Given the description of an element on the screen output the (x, y) to click on. 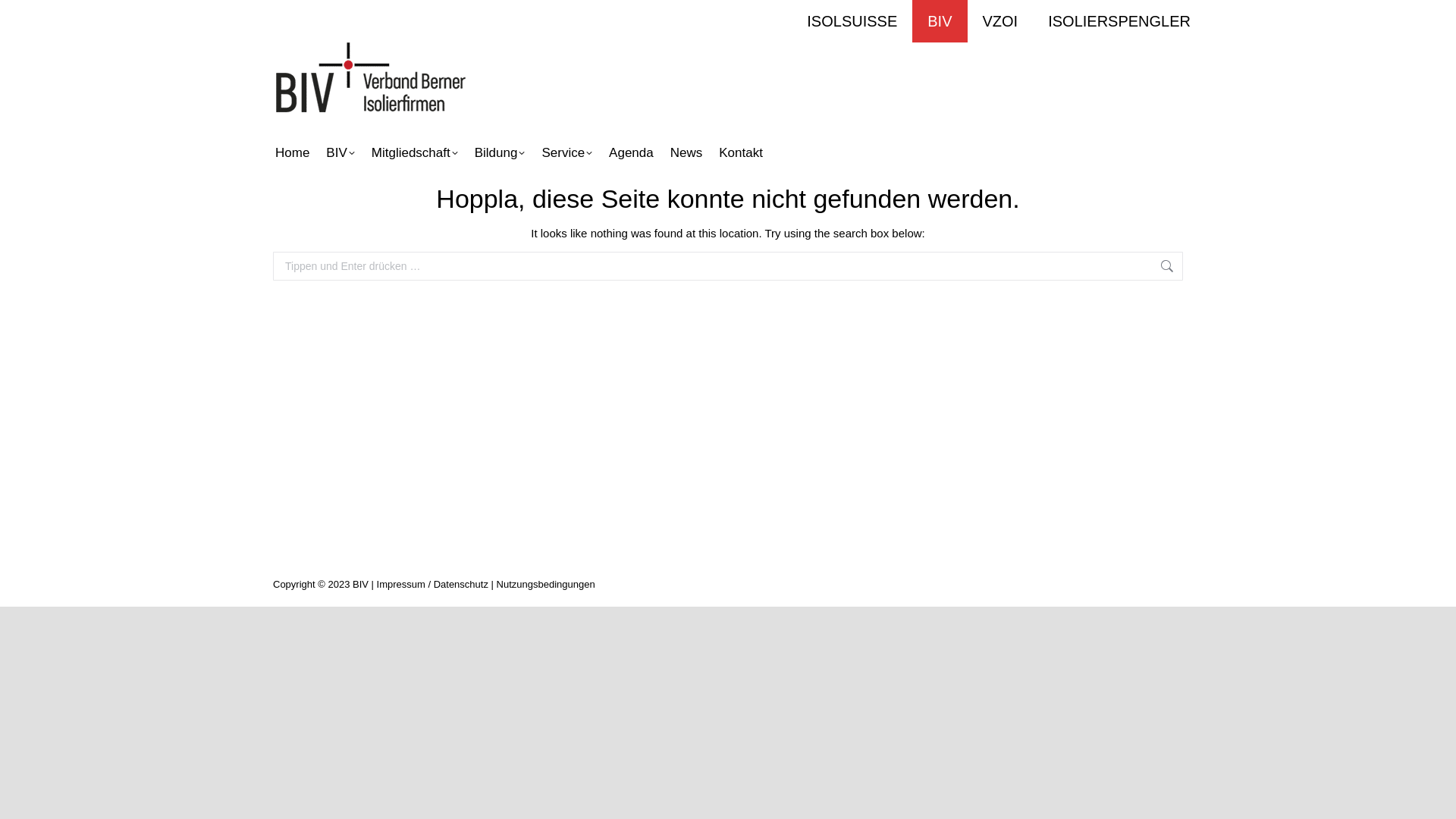
Los! Element type: text (25, 15)
Nutzungsbedingungen Element type: text (545, 583)
Kontakt Element type: text (740, 152)
Mitgliedschaft Element type: text (414, 152)
News Element type: text (686, 152)
BIV Element type: text (339, 152)
Los! Element type: text (1208, 266)
Service Element type: text (566, 152)
Agenda Element type: text (630, 152)
ISOLIERSPENGLER Element type: text (1118, 21)
Home Element type: text (292, 152)
Bildung Element type: text (499, 152)
BIV Element type: text (939, 21)
ISOLSUISSE Element type: text (851, 21)
Impressum / Datenschutz Element type: text (432, 583)
VZOI Element type: text (1000, 21)
